Given the description of an element on the screen output the (x, y) to click on. 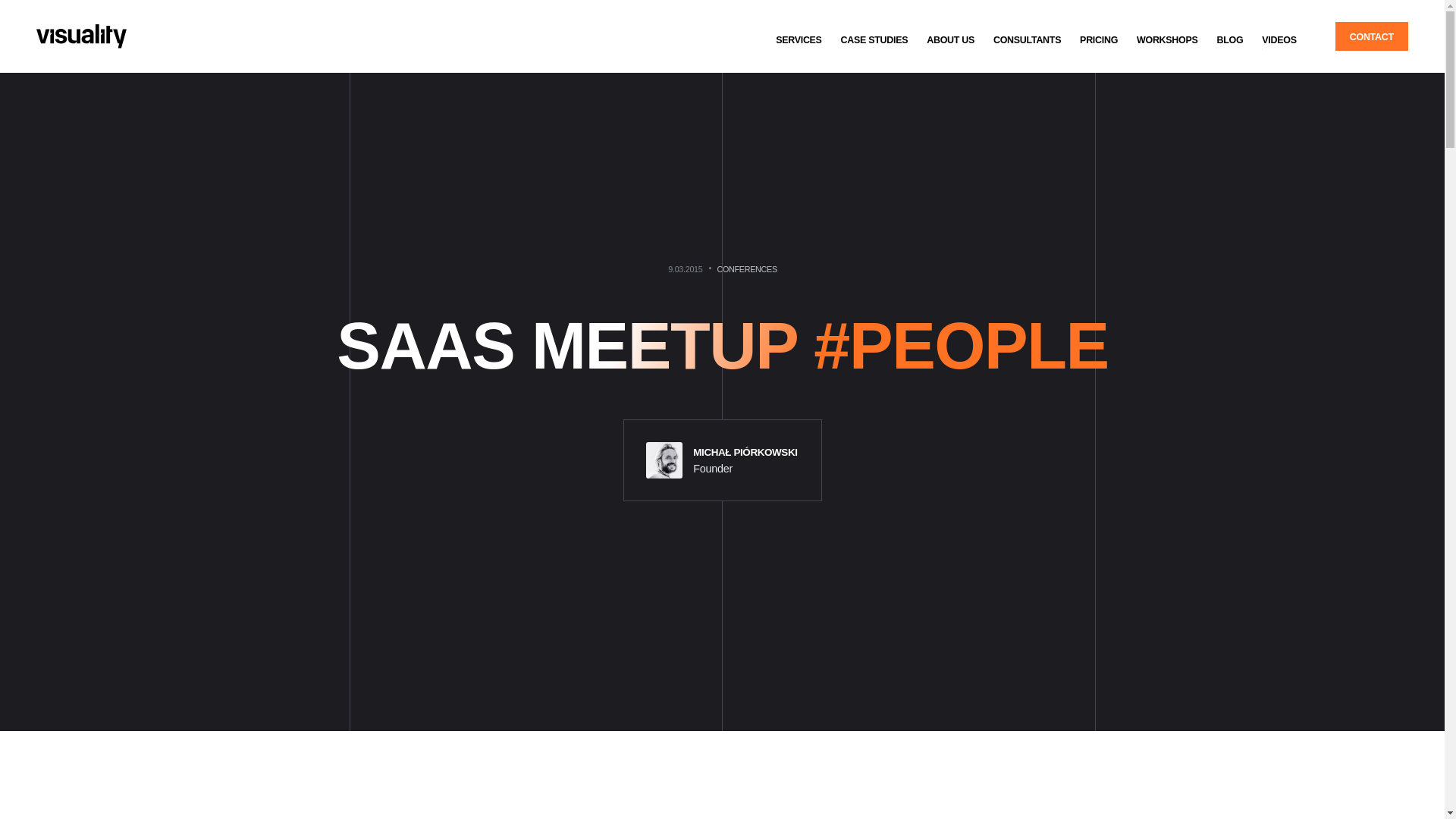
ABOUT US (950, 39)
PRICING (1098, 39)
CONTACT (1371, 36)
VIDEOS (1279, 39)
CONSULTANTS (1027, 39)
WORKSHOPS (1166, 39)
CASE STUDIES (874, 39)
BLOG (1229, 39)
SERVICES (799, 39)
